Given the description of an element on the screen output the (x, y) to click on. 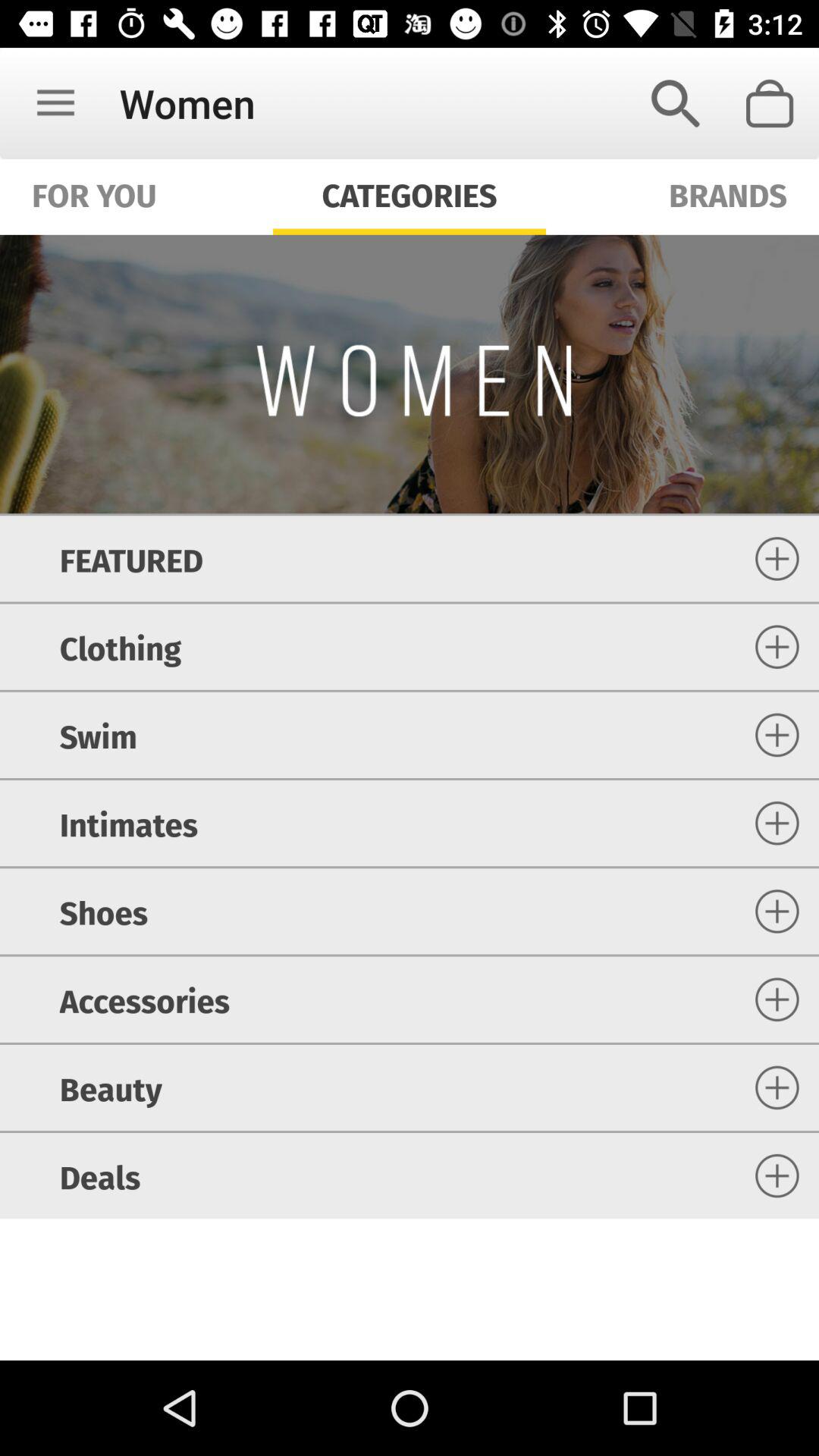
select icon above the for you (55, 103)
